Given the description of an element on the screen output the (x, y) to click on. 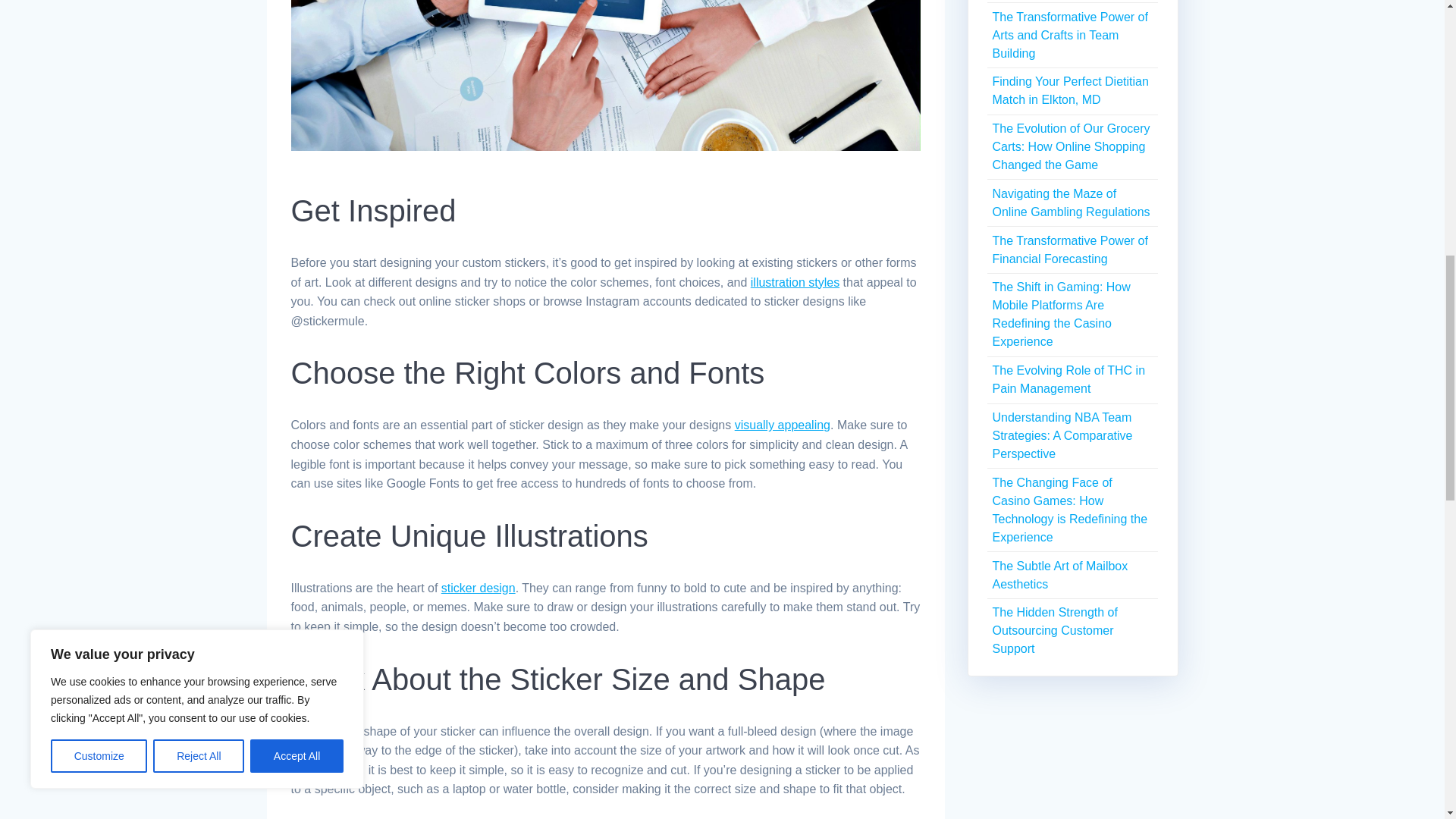
Navigating the Maze of Online Gambling Regulations (1070, 202)
The Transformative Power of Arts and Crafts in Team Building (1069, 34)
illustration styles (795, 282)
sticker design (478, 587)
Finding Your Perfect Dietitian Match in Elkton, MD (1069, 90)
The Transformative Power of Financial Forecasting (1069, 249)
visually appealing (782, 424)
